Given the description of an element on the screen output the (x, y) to click on. 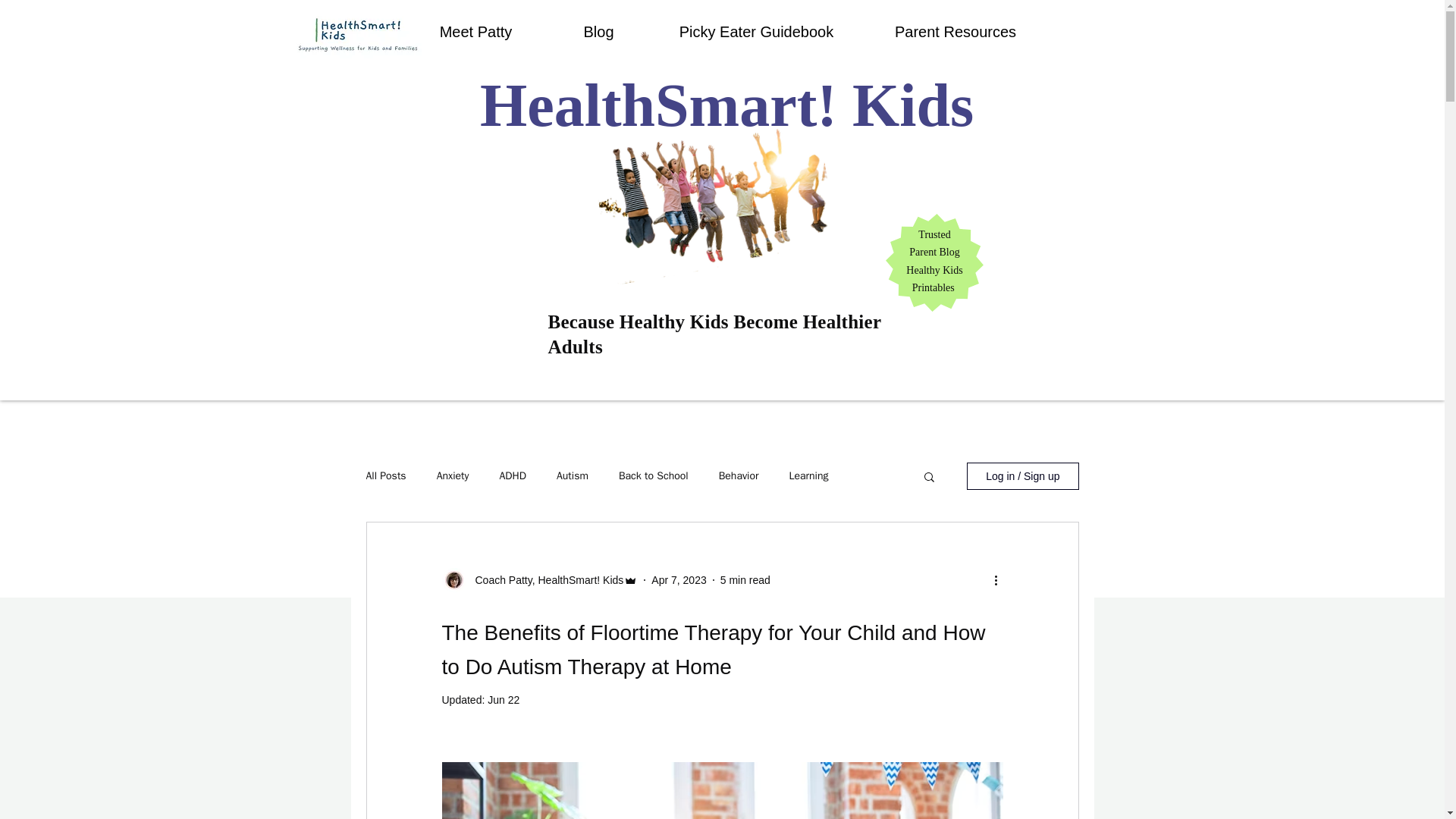
Picky Eater Guidebook (756, 32)
Anxiety (452, 476)
Blog (598, 32)
ADHD (512, 476)
5 min read (745, 579)
Coach Patty, HealthSmart! Kids (544, 579)
Learning (808, 476)
Back to School (653, 476)
Jun 22 (503, 699)
Autism (572, 476)
Apr 7, 2023 (678, 579)
Parent Resources (955, 32)
Behavior (738, 476)
All Posts (385, 476)
Meet Patty (475, 32)
